Given the description of an element on the screen output the (x, y) to click on. 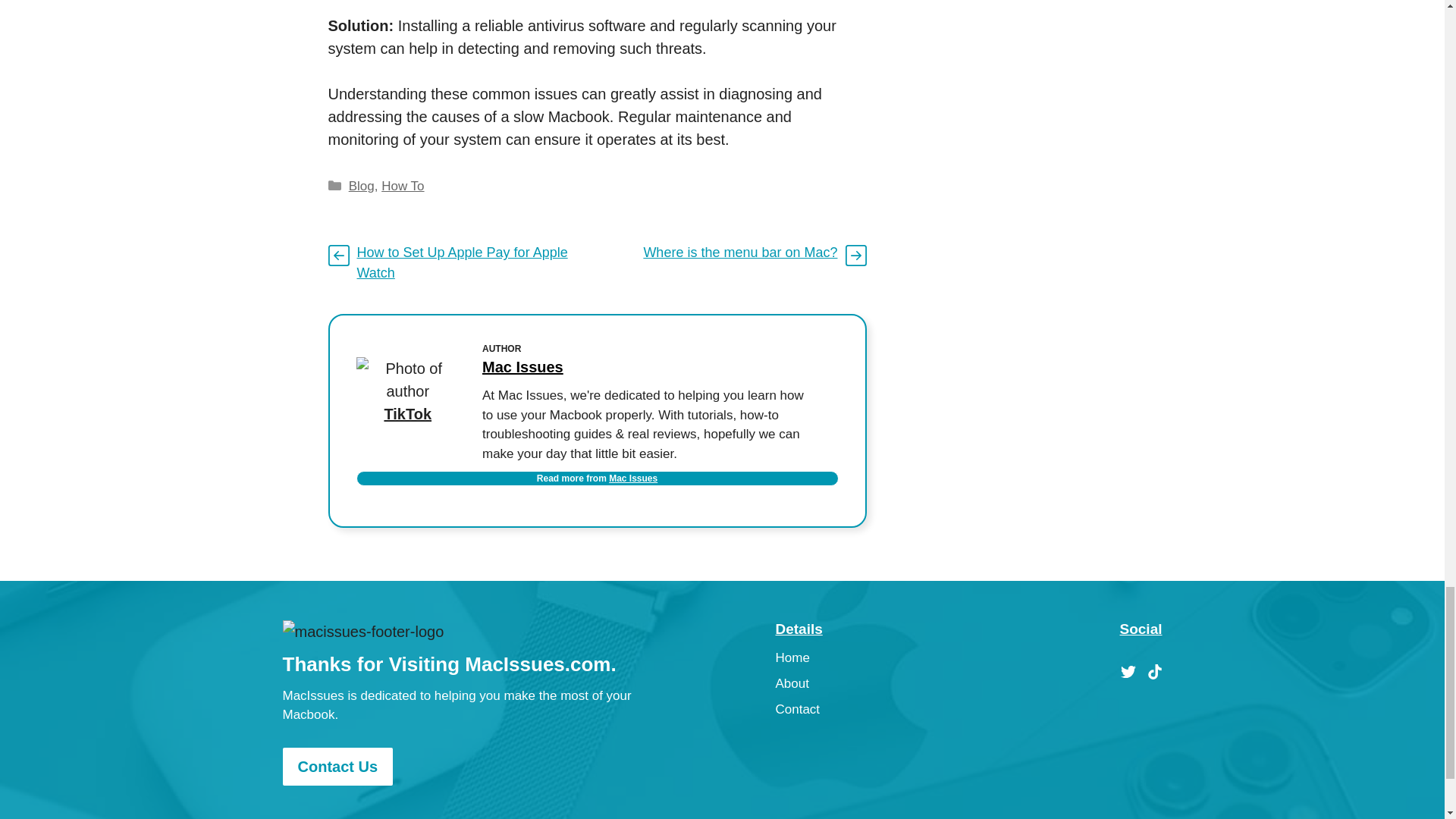
Blog (361, 186)
How to Set Up Apple Pay for Apple Watch (461, 262)
How To (402, 186)
Where is the menu bar on Mac? (740, 252)
TikTok (407, 413)
Mac Issues (522, 366)
Mac Issues (633, 478)
